Given the description of an element on the screen output the (x, y) to click on. 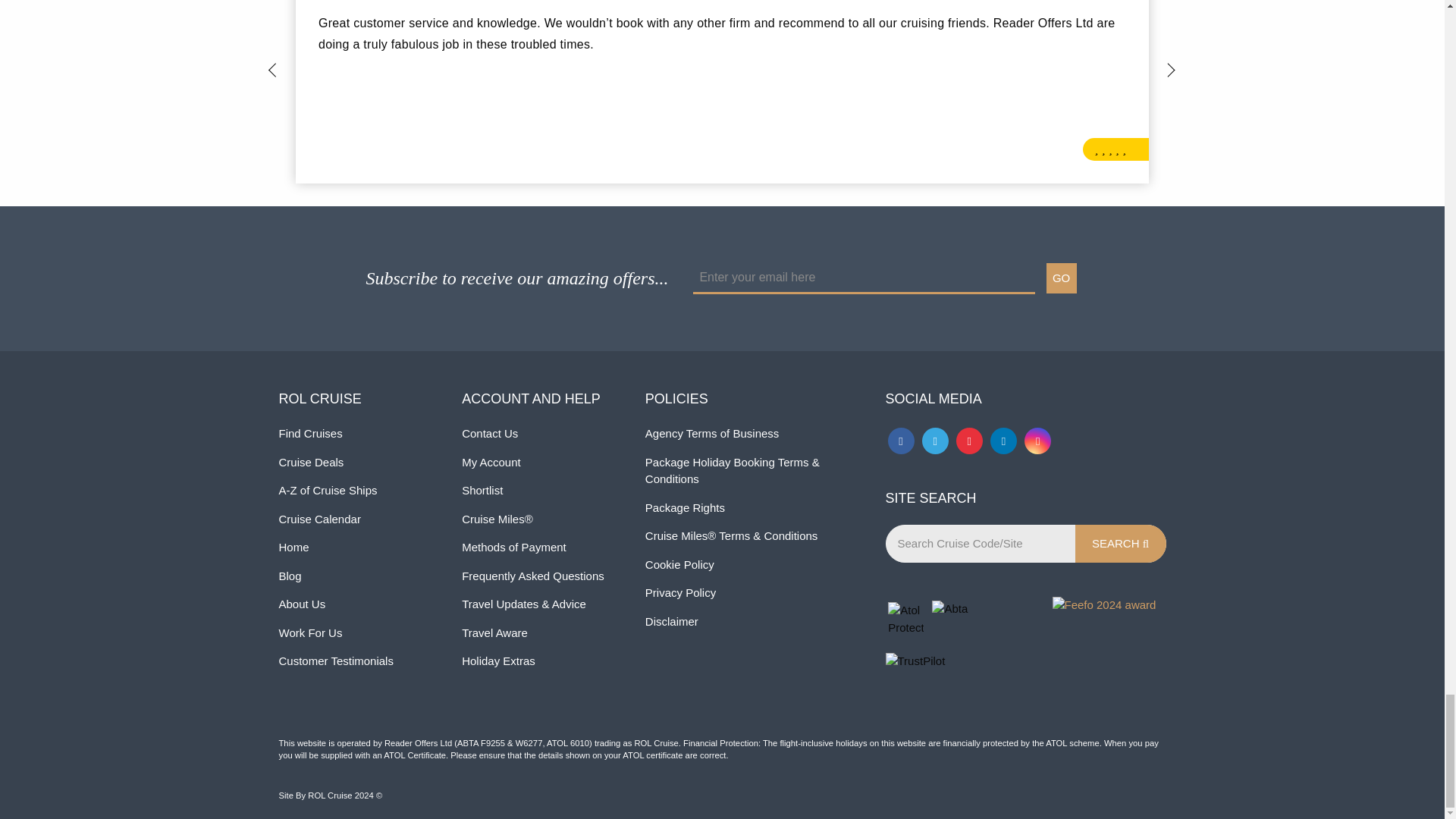
Feefo Reviews (1109, 643)
